Given the description of an element on the screen output the (x, y) to click on. 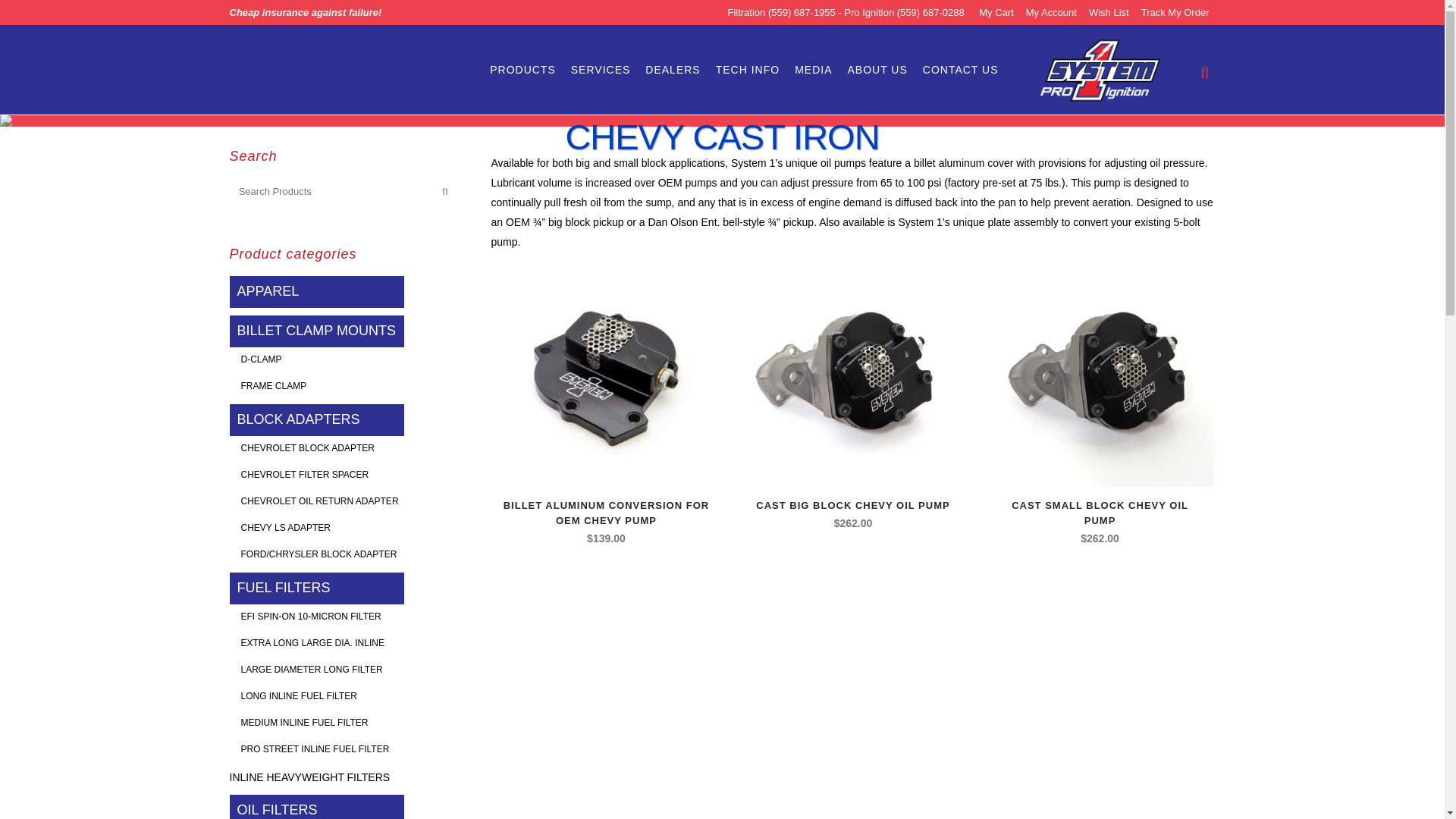
My Cart (995, 12)
Track My Order (1175, 12)
PRODUCTS (522, 69)
CONTACT US (960, 69)
My Account (1051, 12)
Wish List (1109, 12)
